Given the description of an element on the screen output the (x, y) to click on. 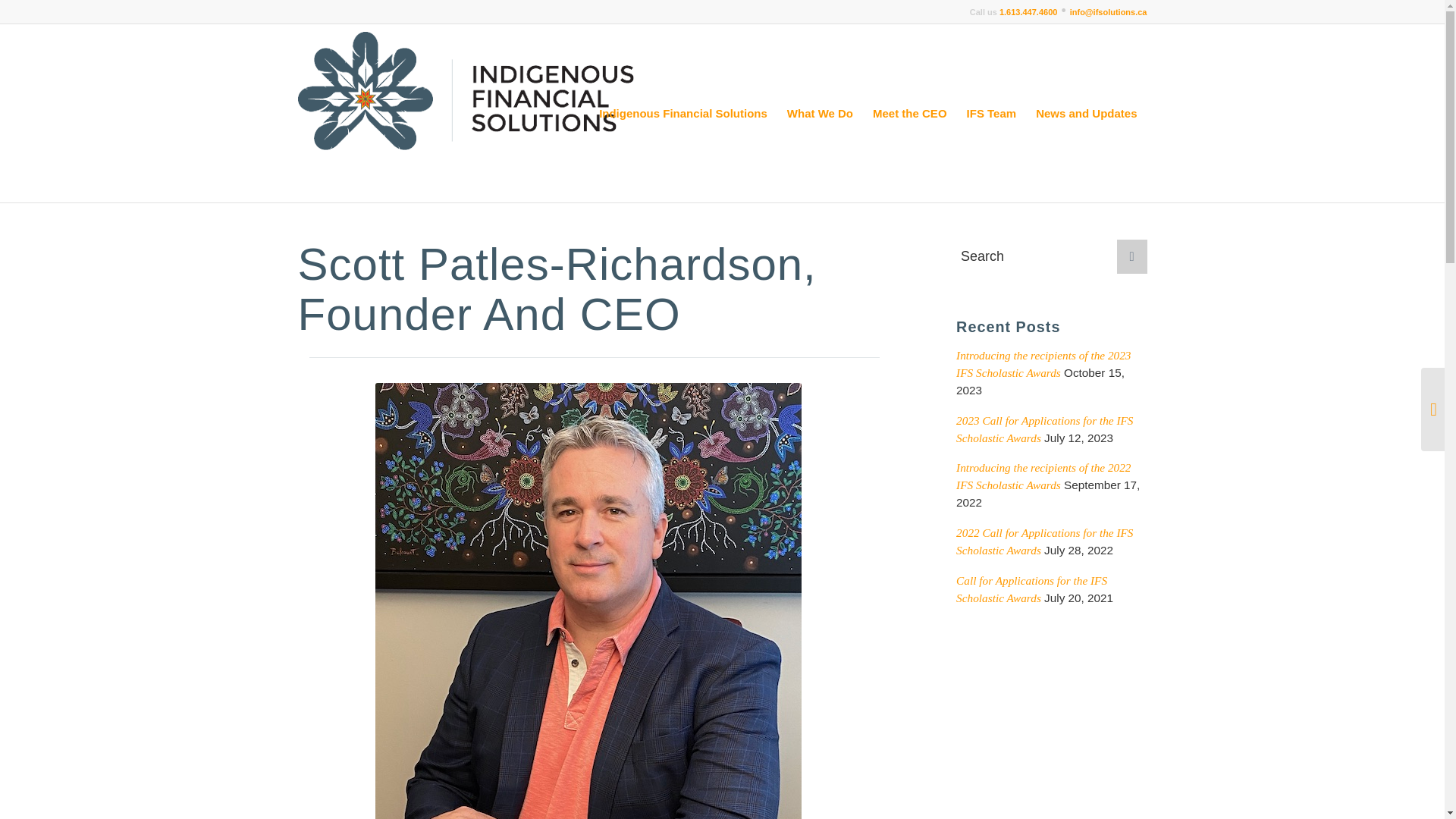
2022 Call for Applications for the IFS Scholastic Awards (1044, 541)
Call for Applications for the IFS Scholastic Awards (1031, 589)
1.613.447.4600 (1027, 11)
Introducing the recipients of the 2023 IFS Scholastic Awards (1043, 363)
Indigenous Financial Solutions (683, 113)
Introducing the recipients of the 2022 IFS Scholastic Awards (1043, 476)
2023 Call for Applications for the IFS Scholastic Awards (1044, 429)
